Given the description of an element on the screen output the (x, y) to click on. 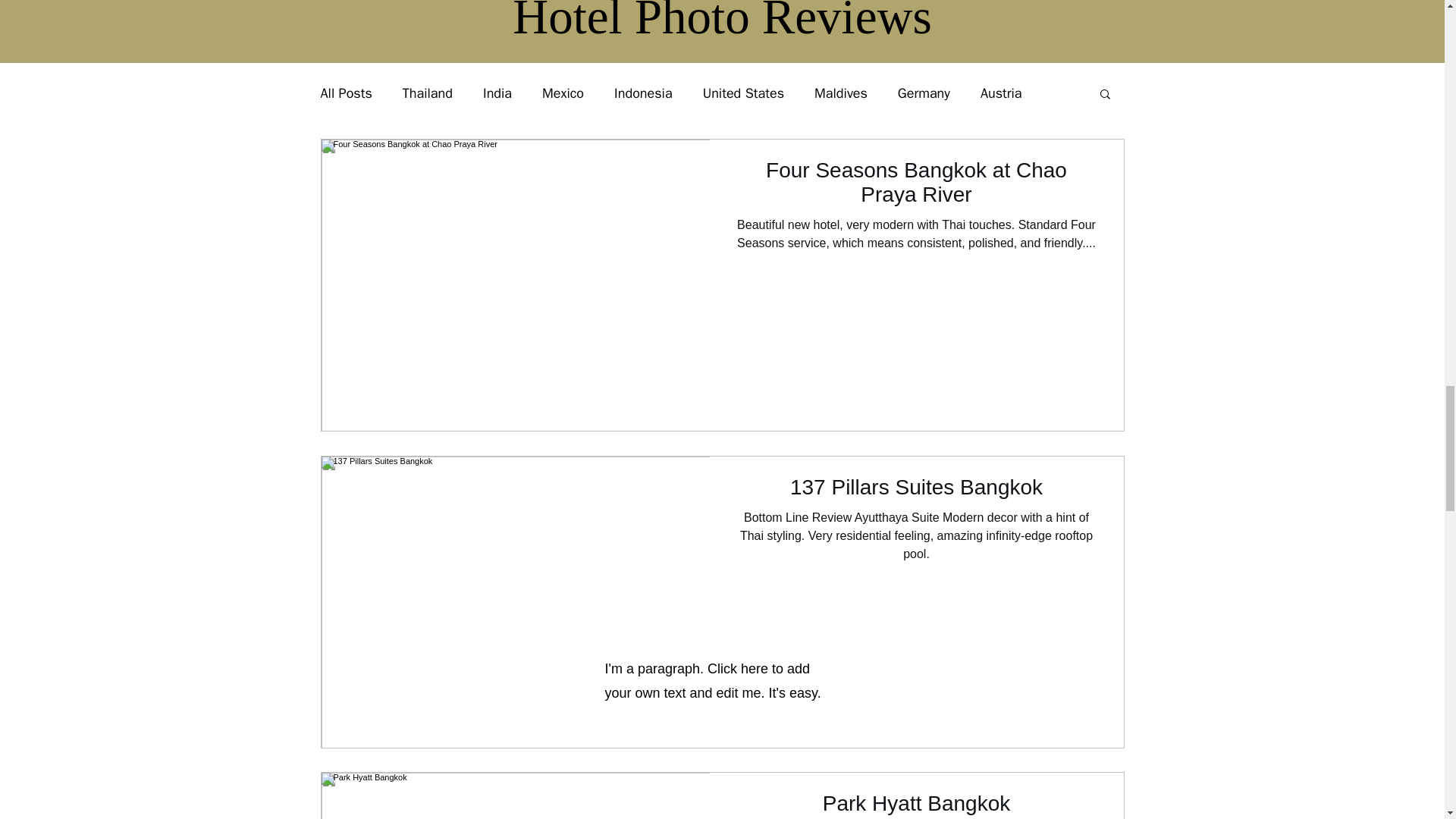
Park Hyatt Bangkok (916, 805)
United States (743, 93)
Austria (1000, 93)
Four Seasons Bangkok at Chao Praya River (916, 187)
India (497, 93)
Germany (924, 93)
Mexico (562, 93)
Indonesia (643, 93)
All Posts (345, 93)
137 Pillars Suites Bangkok (916, 491)
Thailand (427, 93)
Maldives (840, 93)
